Given the description of an element on the screen output the (x, y) to click on. 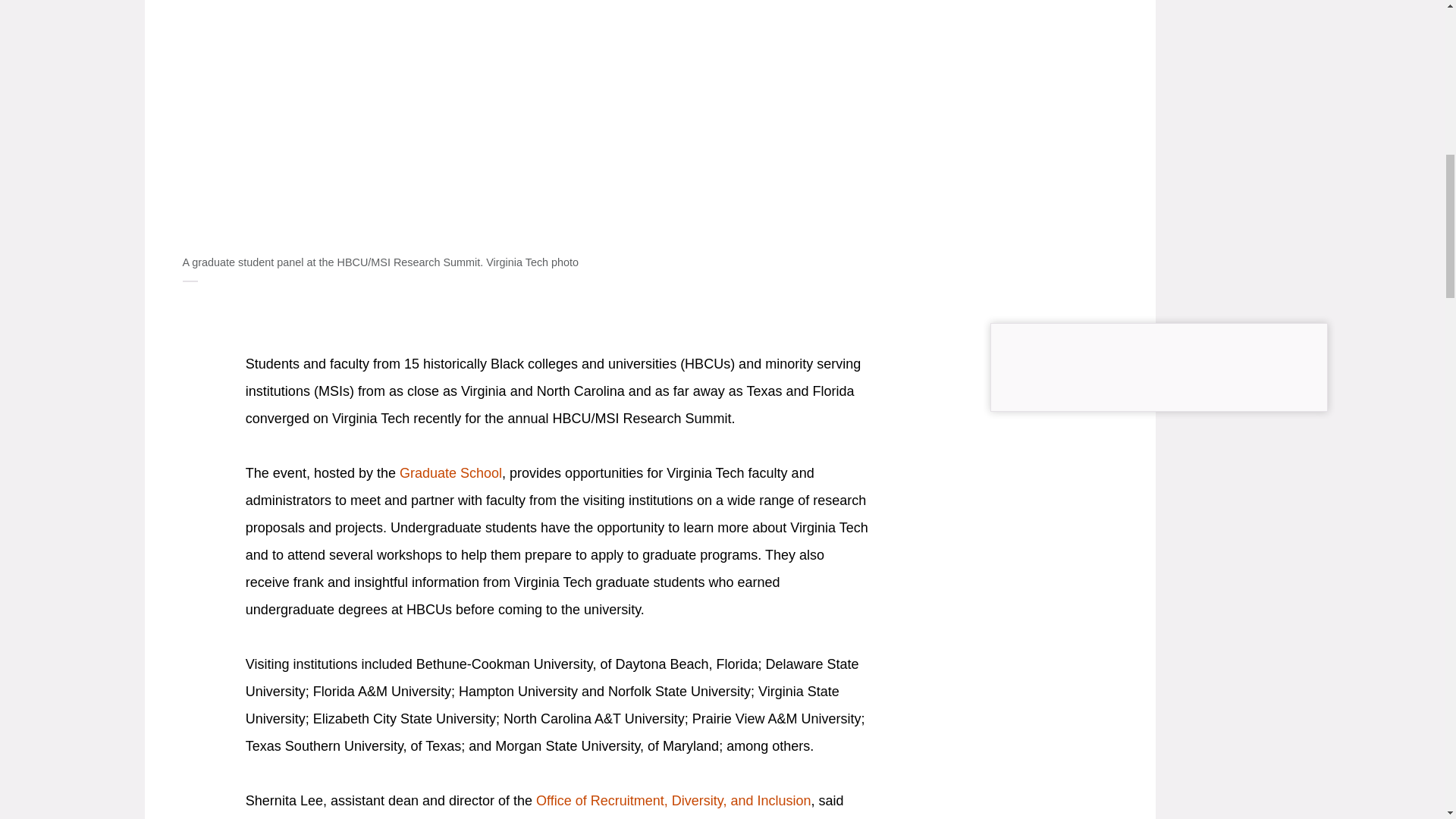
link to the ORDI site (672, 800)
Link to the Graduate School website (450, 473)
